Given the description of an element on the screen output the (x, y) to click on. 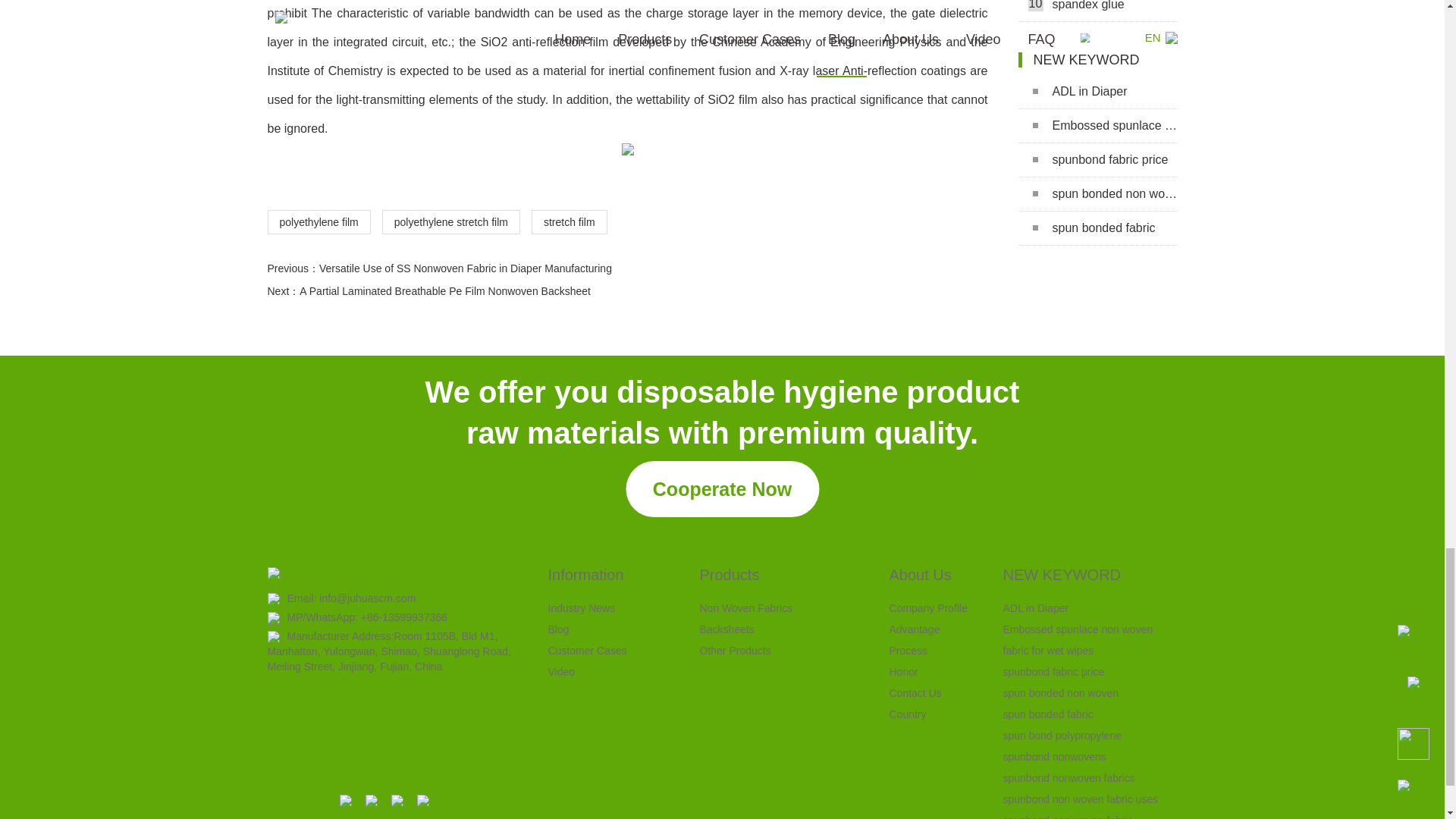
spunbond fabric price (1096, 160)
spandex glue (1096, 11)
Embossed spunlace non woven  fabric for wet wipes (1096, 125)
ADL in Diaper (1096, 91)
polyethylene film (317, 221)
